Given the description of an element on the screen output the (x, y) to click on. 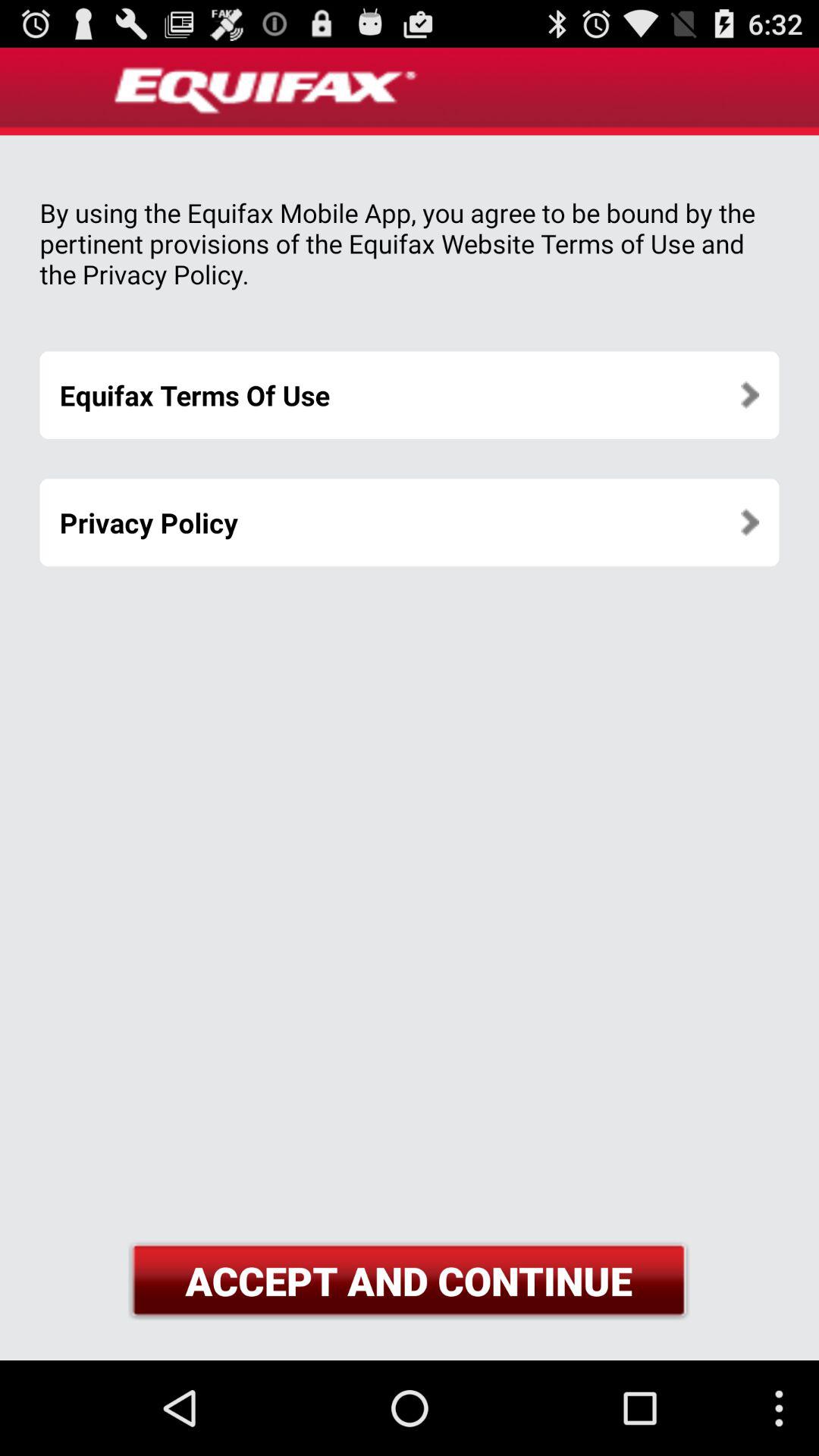
scroll until the accept and continue (408, 1280)
